Given the description of an element on the screen output the (x, y) to click on. 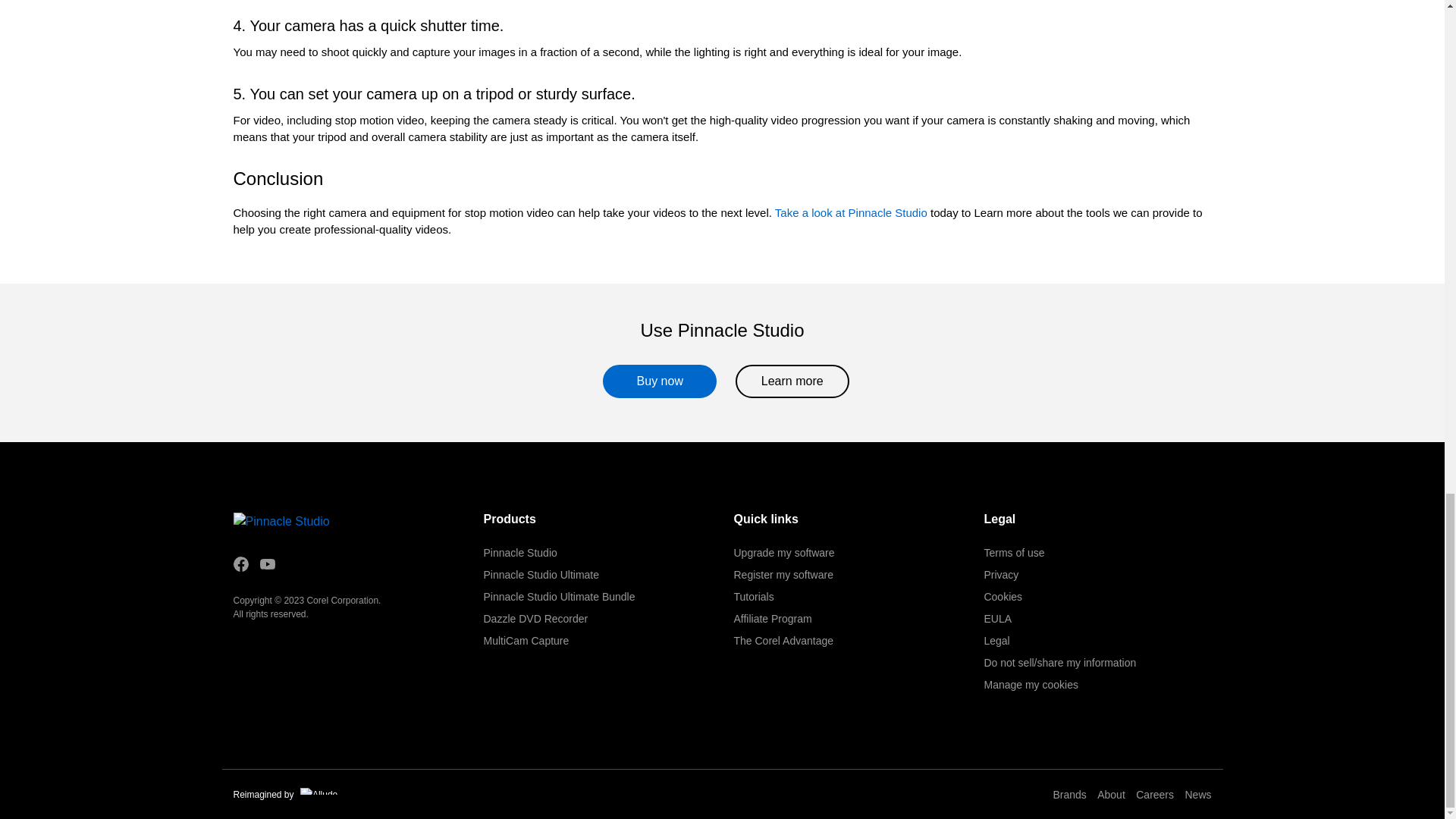
Pinnacle Studio (309, 521)
Alludo Facebook (240, 563)
Pinnacle Studio YouTube (267, 563)
Alludo (318, 790)
